Given the description of an element on the screen output the (x, y) to click on. 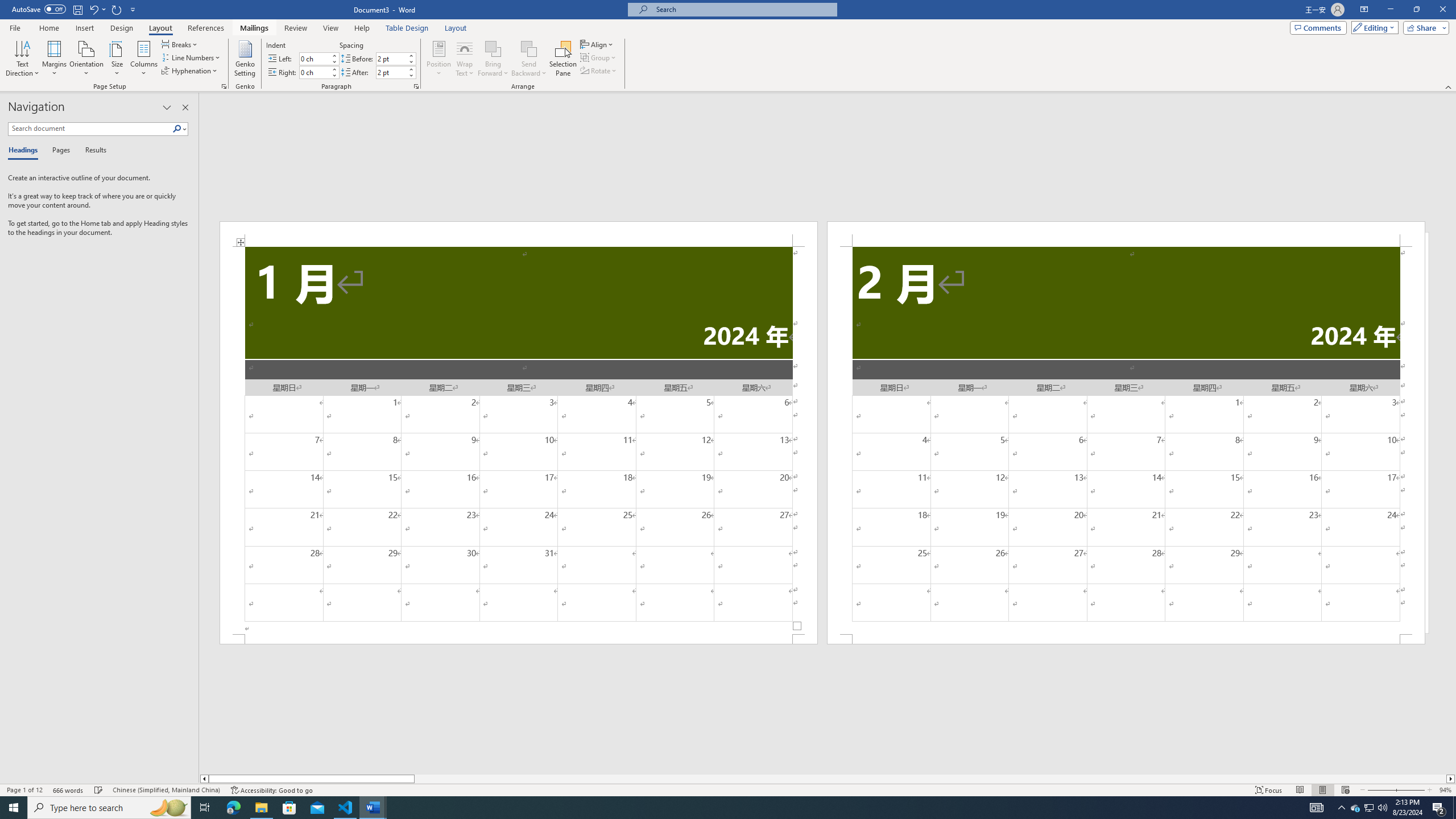
Share (1423, 27)
Mode (1372, 27)
Customize Quick Access Toolbar (133, 9)
Task Pane Options (167, 107)
Rotate (599, 69)
Collapse the Ribbon (1448, 86)
Repeat Doc Close (117, 9)
System (6, 6)
Page right (929, 778)
Size (116, 58)
Search document (89, 128)
Column right (1450, 778)
Comments (1318, 27)
Class: NetUIImage (177, 128)
